Given the description of an element on the screen output the (x, y) to click on. 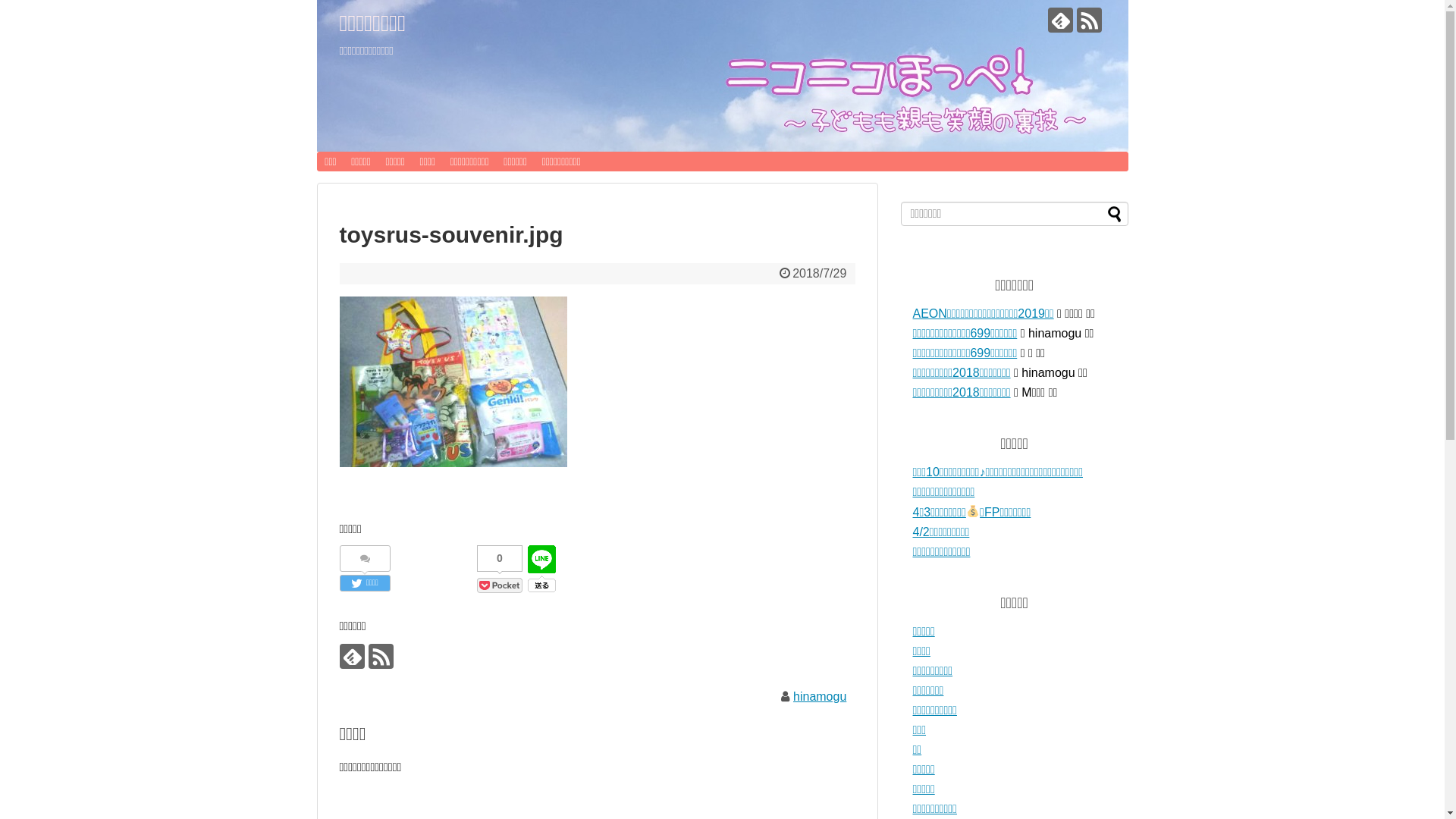
hinamogu Element type: text (819, 696)
